Given the description of an element on the screen output the (x, y) to click on. 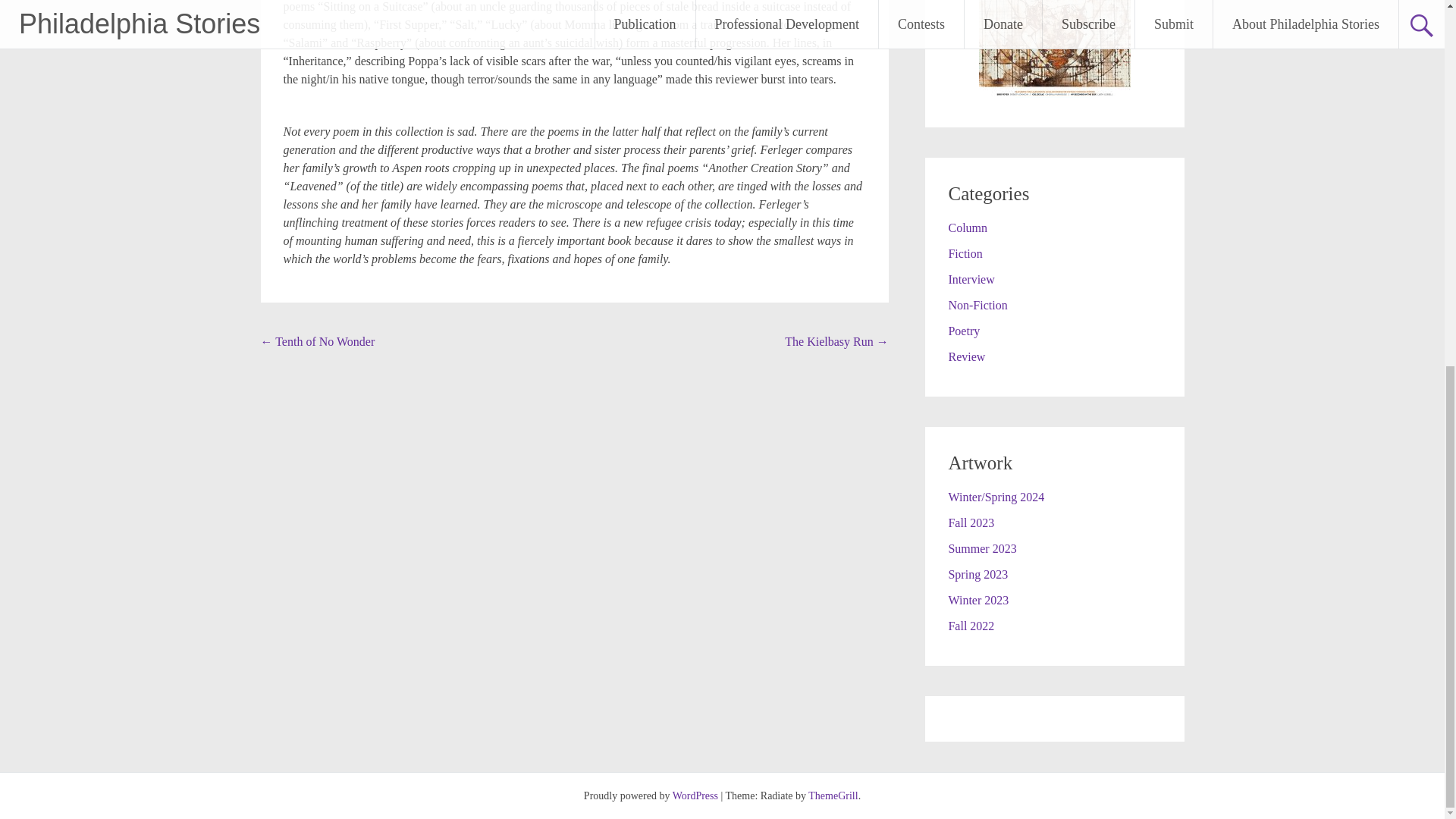
Review (966, 356)
Fall 2023 (970, 522)
Column (967, 227)
Non-Fiction (977, 305)
Interview (970, 278)
Summer 2023 (981, 548)
Fiction (964, 253)
Poetry (963, 330)
